Given the description of an element on the screen output the (x, y) to click on. 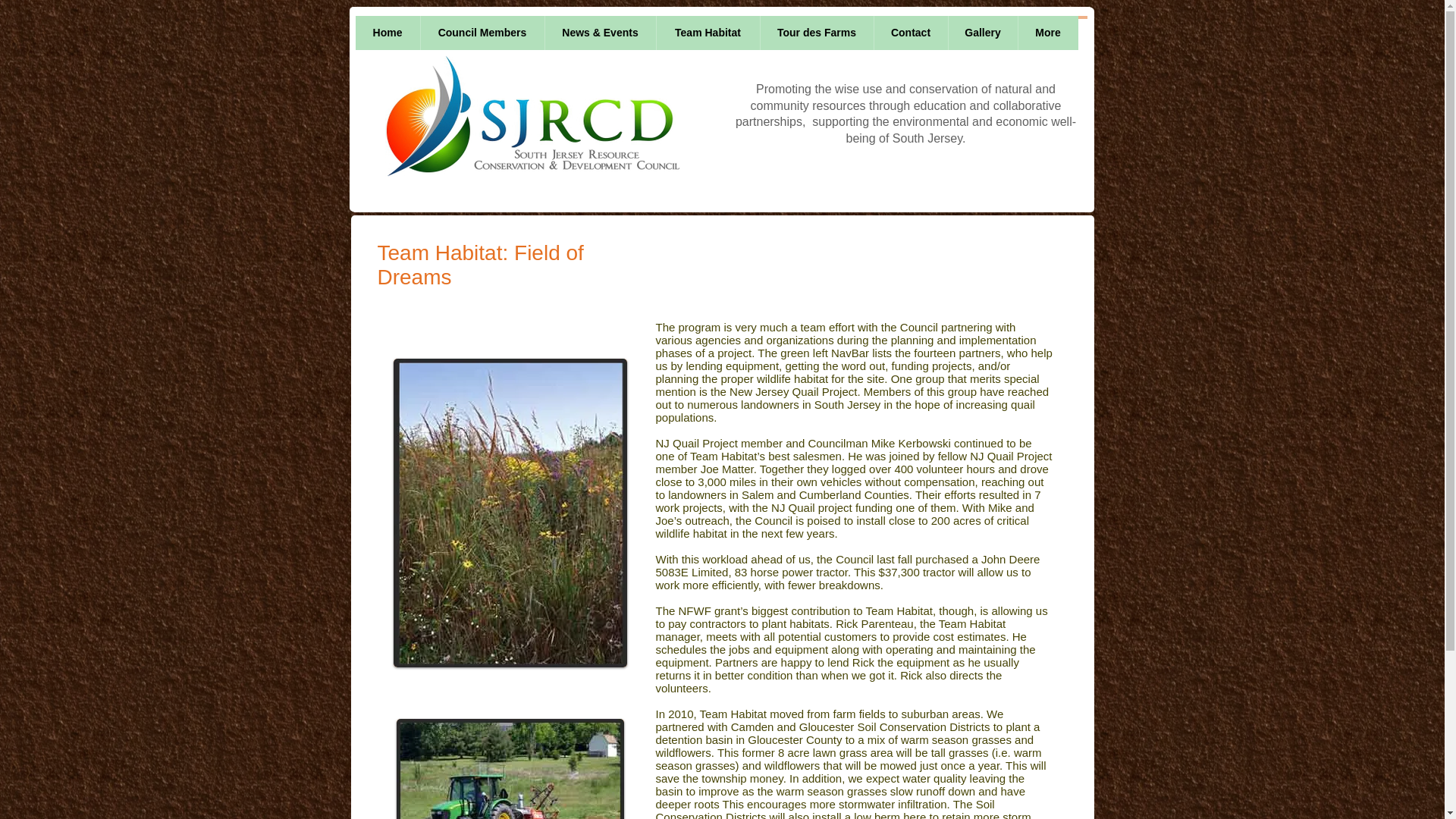
Team Habitat (715, 36)
Tour des Farms (825, 36)
Team Habitat (706, 32)
Contact (910, 32)
Council Members (491, 36)
Contact (919, 36)
Tour des Farms (816, 32)
Gallery (982, 32)
Home (387, 32)
Home (396, 36)
